Given the description of an element on the screen output the (x, y) to click on. 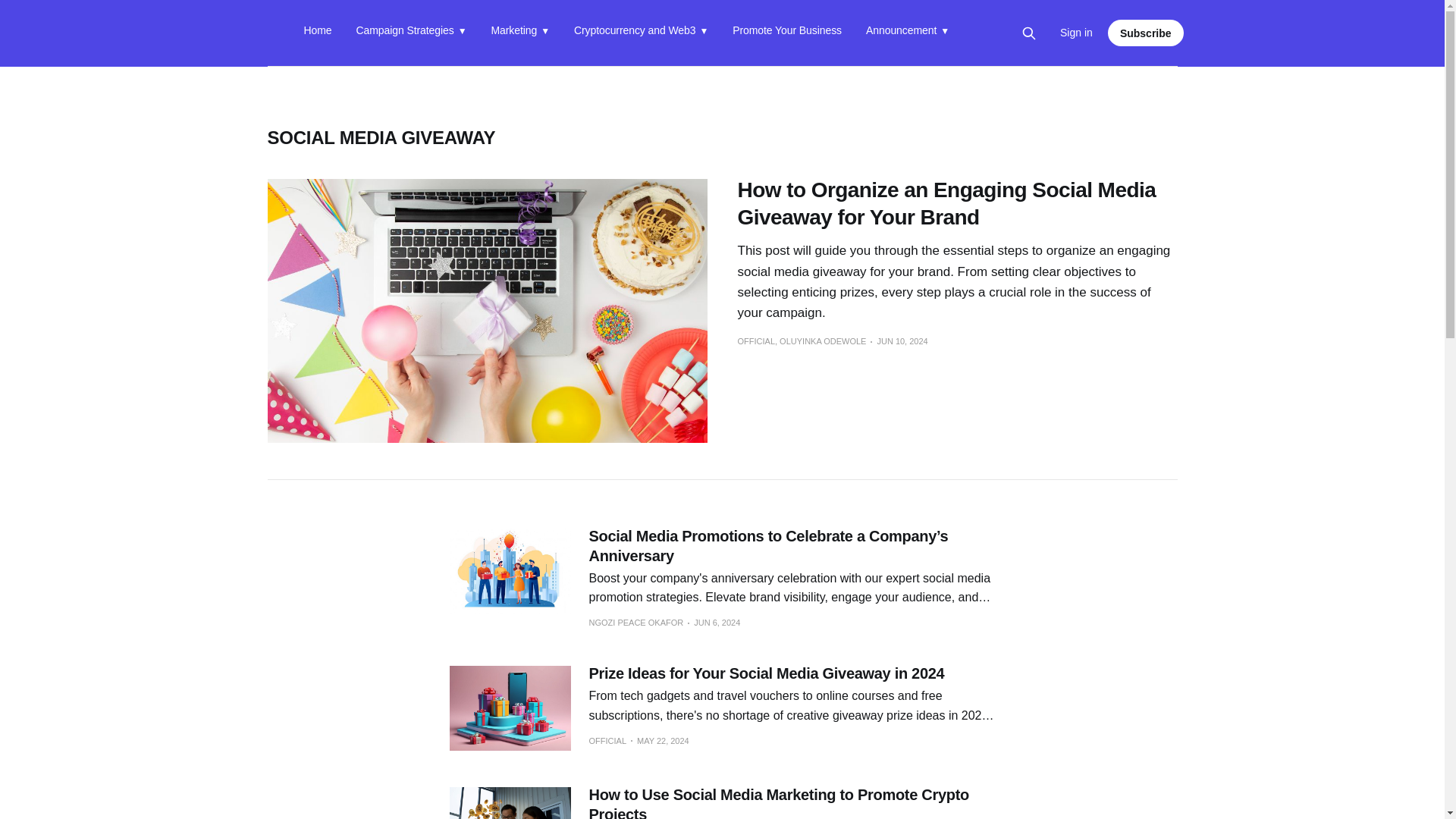
Sign in (1076, 32)
Home (316, 32)
Cryptocurrency and Web3 (640, 32)
Campaign Strategies (411, 32)
Subscribe (1145, 32)
Announcement (907, 32)
Marketing (520, 32)
Promote Your Business (786, 32)
